Given the description of an element on the screen output the (x, y) to click on. 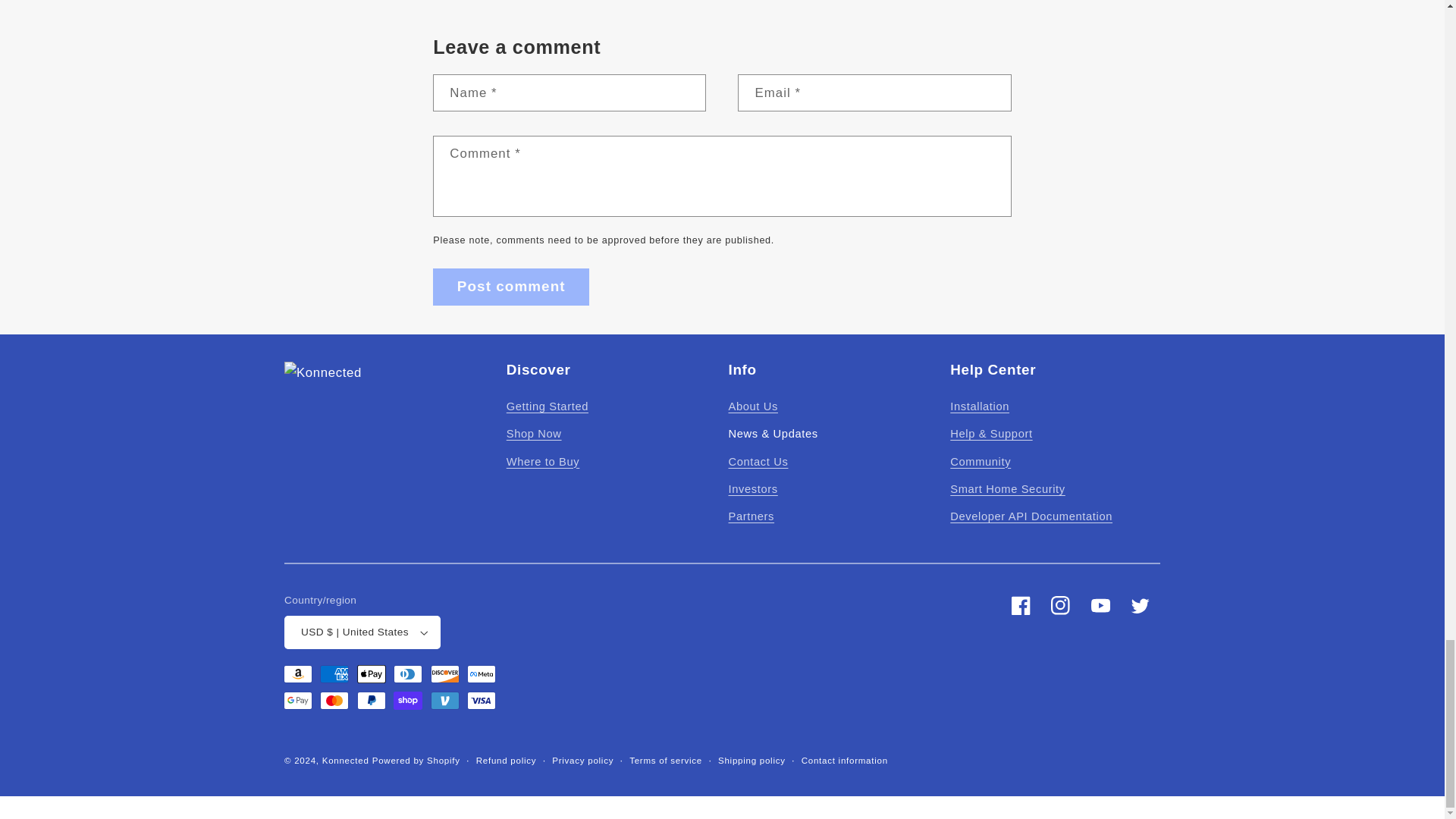
Post comment (510, 286)
